Given the description of an element on the screen output the (x, y) to click on. 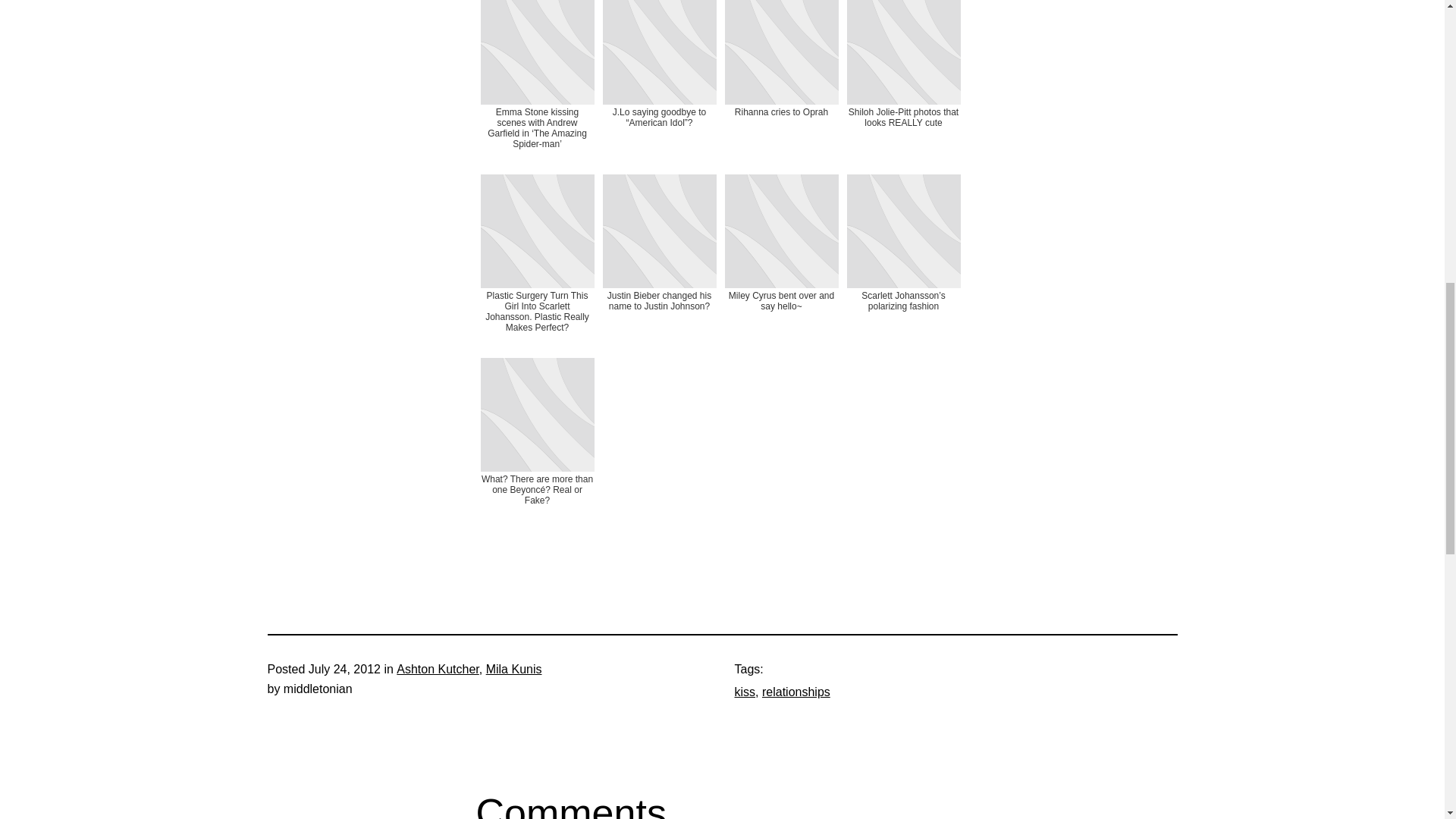
relationships (795, 691)
Ashton Kutcher (437, 668)
Mila Kunis (513, 668)
kiss (744, 691)
